Given the description of an element on the screen output the (x, y) to click on. 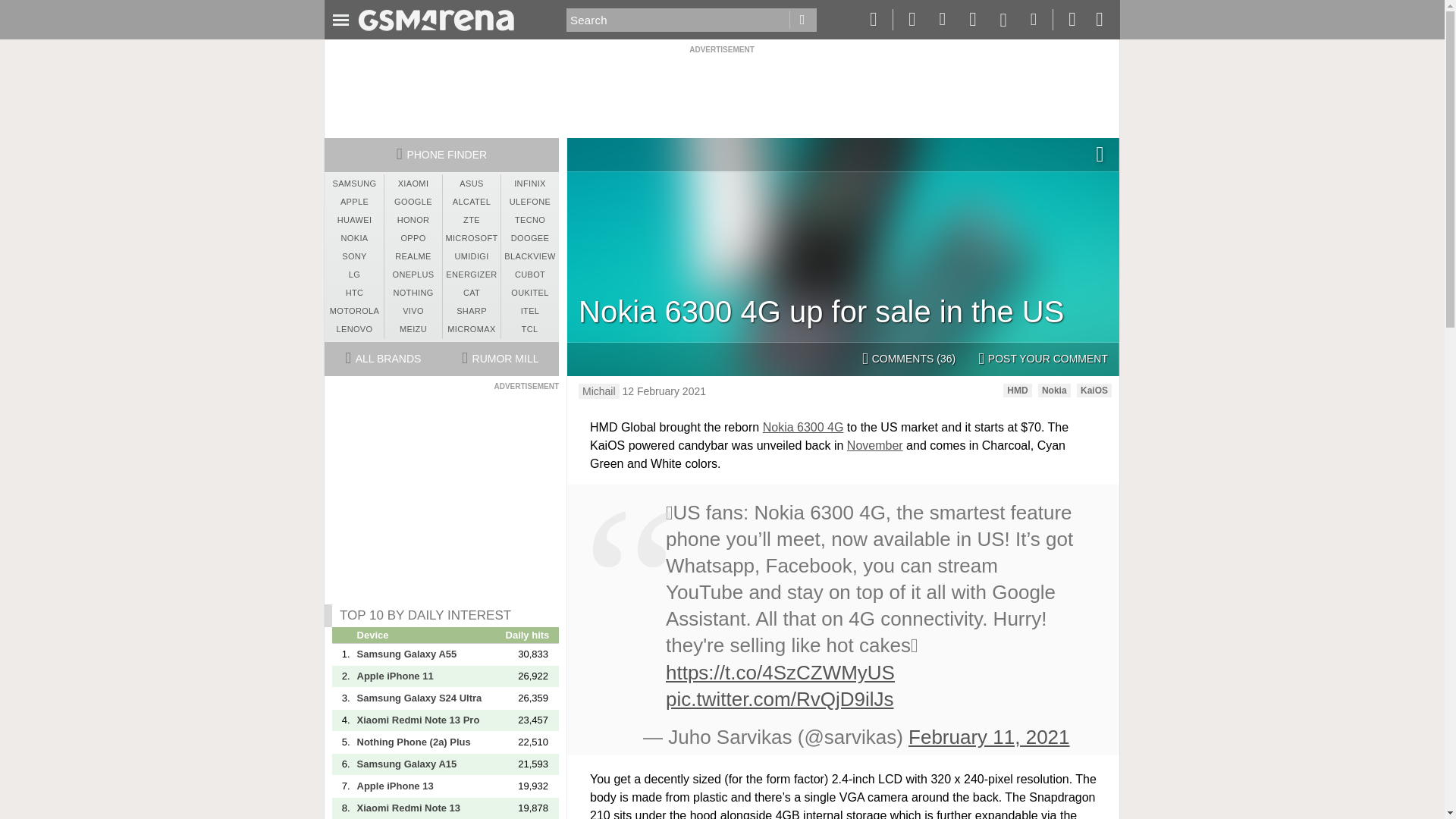
Go (802, 19)
POST YOUR COMMENT (1042, 359)
HMD (1016, 390)
Nokia (1054, 390)
KaiOS (1094, 390)
November (874, 445)
Nokia 6300 4G (803, 427)
Michail (599, 391)
Go (802, 19)
